Given the description of an element on the screen output the (x, y) to click on. 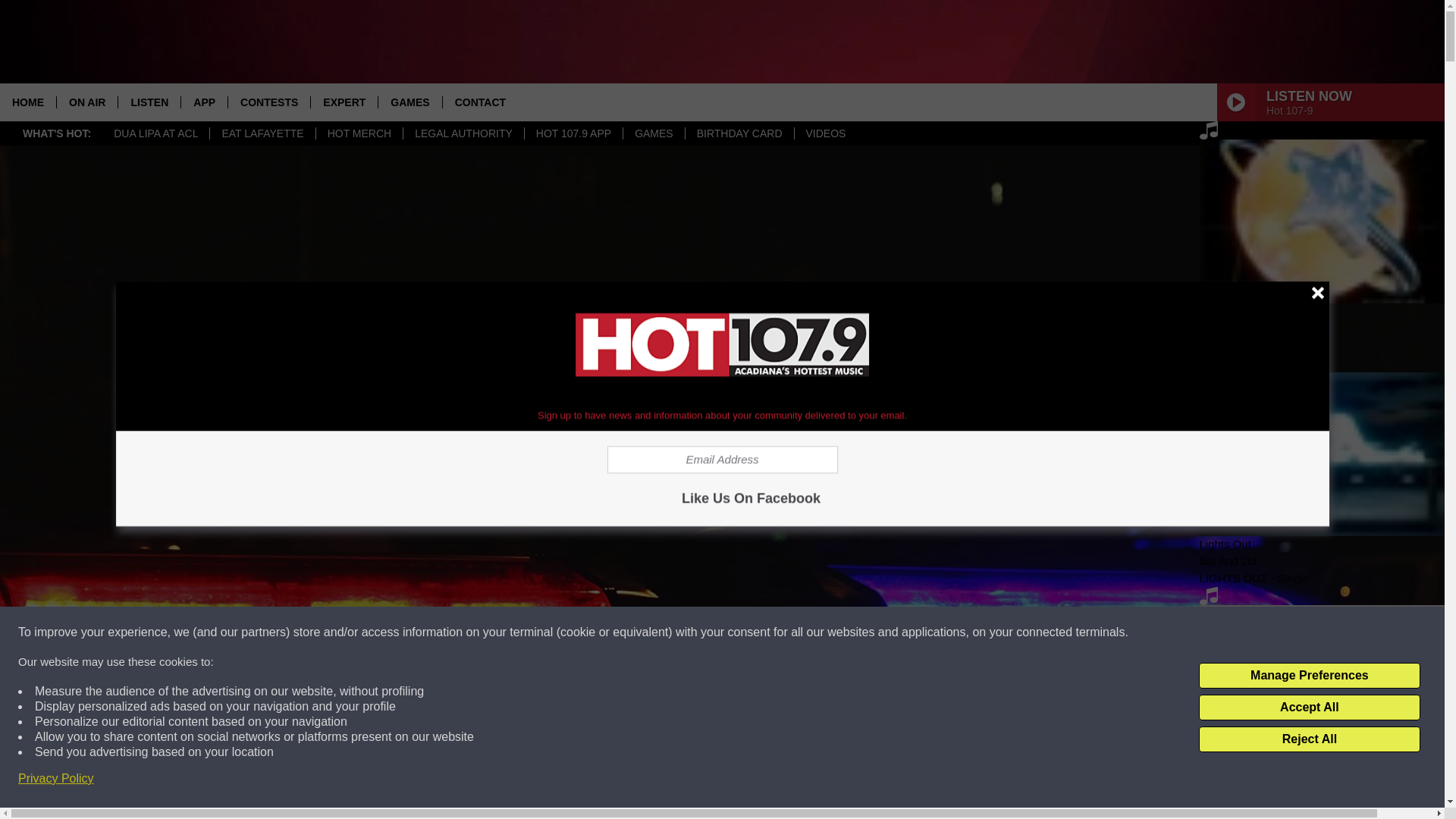
EAT LAFAYETTE (261, 133)
BIRTHDAY CARD (738, 133)
GAMES (653, 133)
Manage Preferences (1309, 675)
HOME (28, 102)
LEGAL AUTHORITY (463, 133)
Privacy Policy (55, 778)
Email Address (722, 459)
HOT MERCH (359, 133)
VIDEOS (825, 133)
Accept All (1309, 707)
ON AIR (86, 102)
WHAT'S HOT: (56, 133)
LISTEN (148, 102)
Reject All (1309, 739)
